Given the description of an element on the screen output the (x, y) to click on. 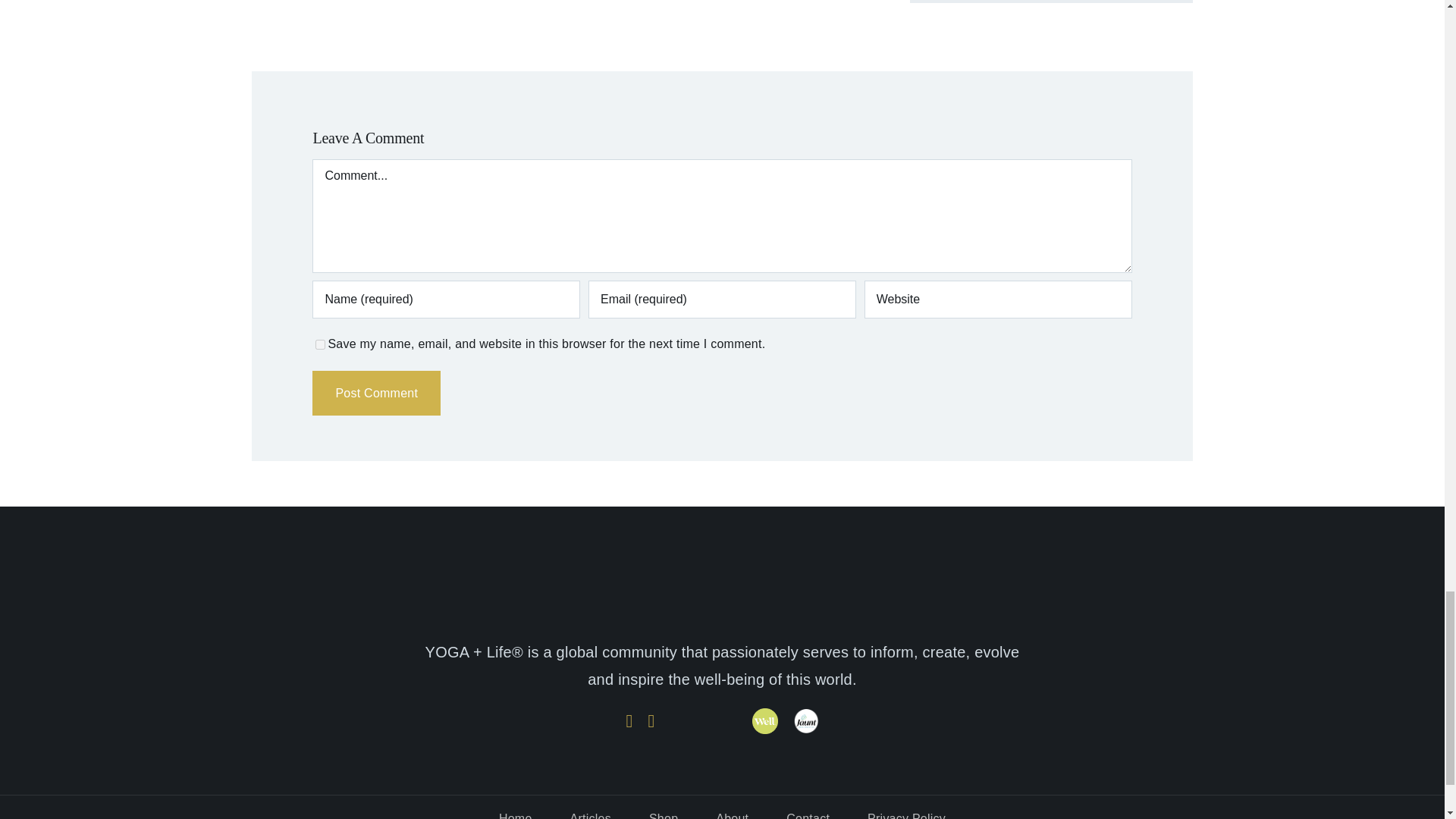
Page 4 (721, 665)
yes (319, 344)
Post Comment (377, 393)
